Given the description of an element on the screen output the (x, y) to click on. 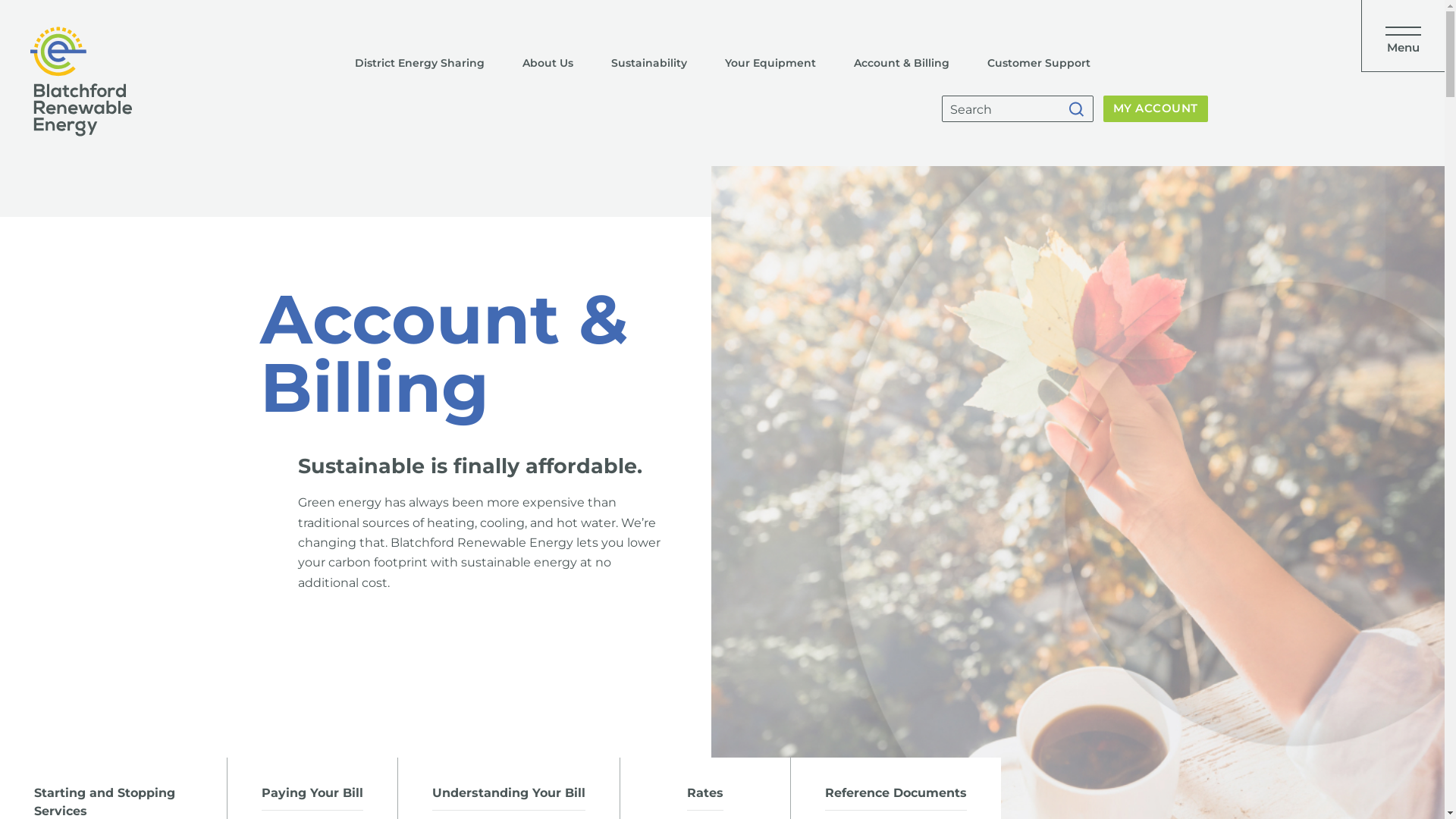
Customer Support Element type: text (1037, 62)
MY ACCOUNT Element type: text (1155, 108)
Search Element type: text (1081, 109)
Search for: Element type: hover (1017, 108)
Menu Element type: text (1402, 36)
District Energy Sharing Element type: text (418, 62)
About Us Element type: text (547, 62)
Account & Billing Element type: text (900, 62)
Sustainability Element type: text (648, 62)
Blatchford Renewable Energy Logo Element type: hover (80, 81)
Your Equipment Element type: text (769, 62)
